Given the description of an element on the screen output the (x, y) to click on. 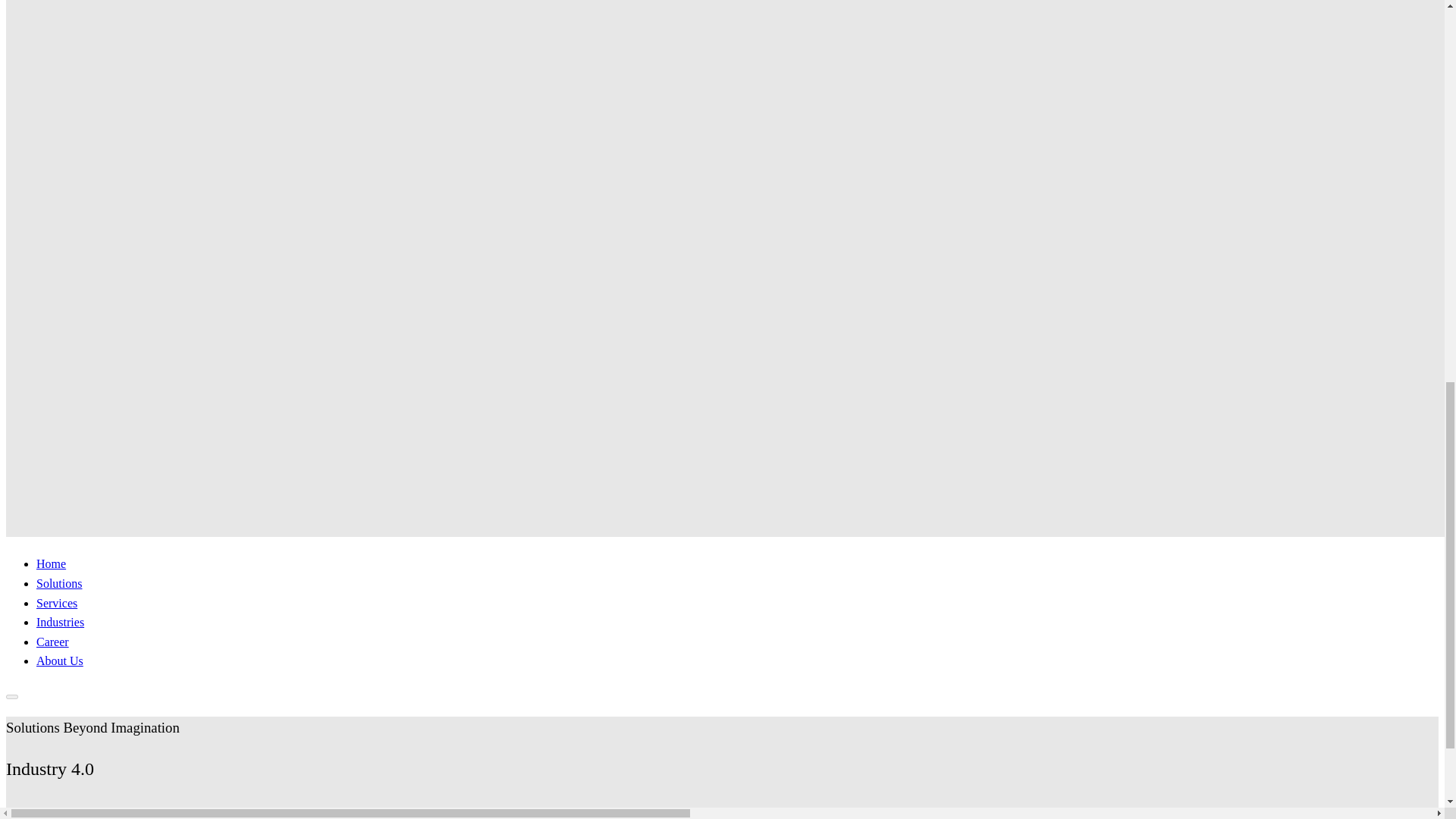
About Us (59, 660)
Solutions (58, 583)
Career (52, 641)
Home (60, 621)
Services (50, 563)
